Given the description of an element on the screen output the (x, y) to click on. 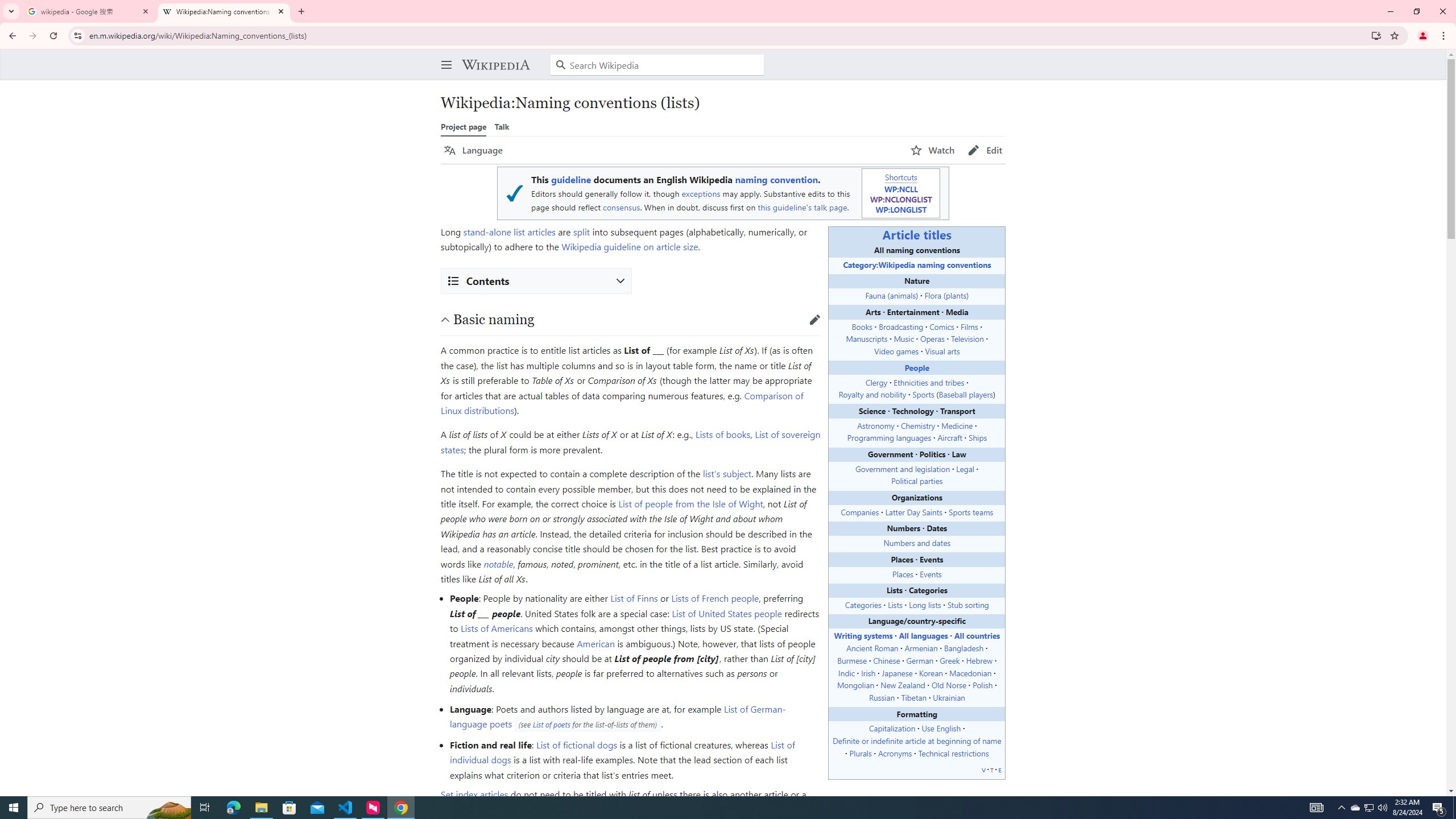
Plurals (860, 752)
Edit (984, 149)
Wikipedia guideline on article size (630, 246)
Books (861, 326)
this guideline's talk page (802, 206)
Legal (965, 467)
Ships (977, 437)
Ukrainian (949, 697)
Acronyms (894, 752)
Films (968, 326)
AutomationID: page-actions-watch (932, 150)
Japanese (896, 672)
Mongolian (855, 684)
